Given the description of an element on the screen output the (x, y) to click on. 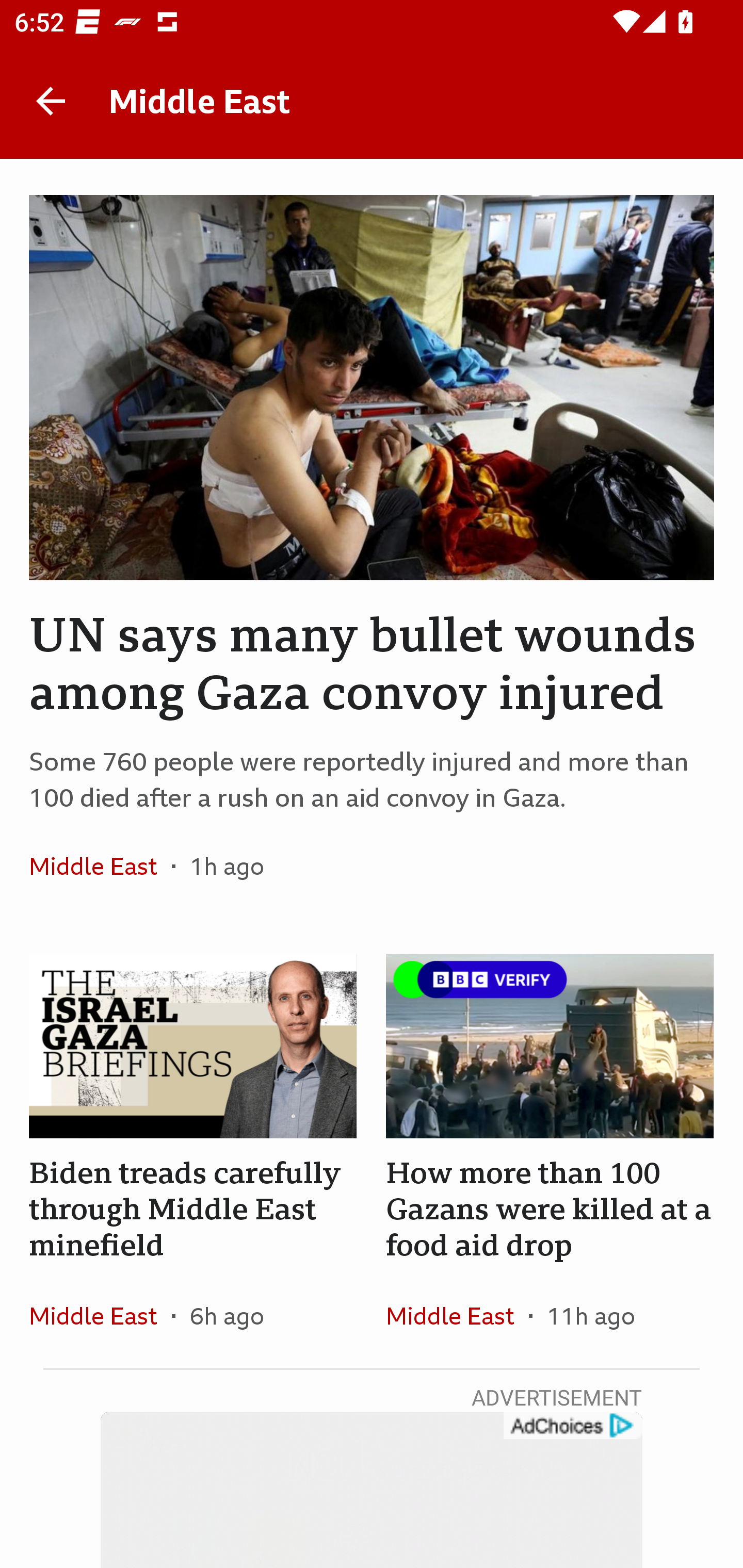
Back (50, 101)
Middle East In the section Middle East (99, 865)
Middle East In the section Middle East (99, 1315)
Middle East In the section Middle East (457, 1315)
Video Player get?name=admarker-full-tl   (371, 1489)
get?name=admarker-full-tl (571, 1425)
